Given the description of an element on the screen output the (x, y) to click on. 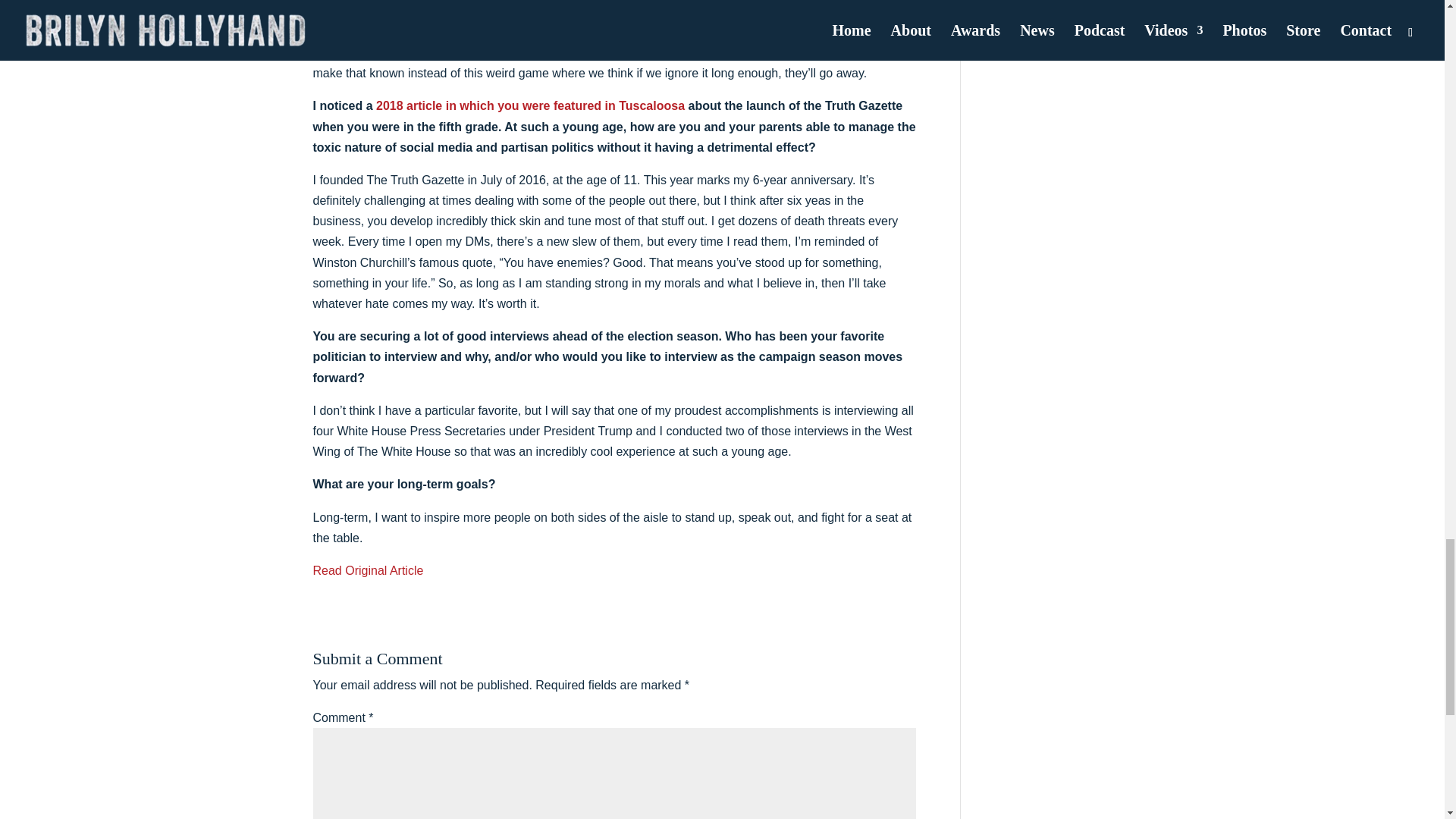
 2018 article in which you were featured in Tuscaloosa (528, 105)
Read Original Article (368, 570)
